Given the description of an element on the screen output the (x, y) to click on. 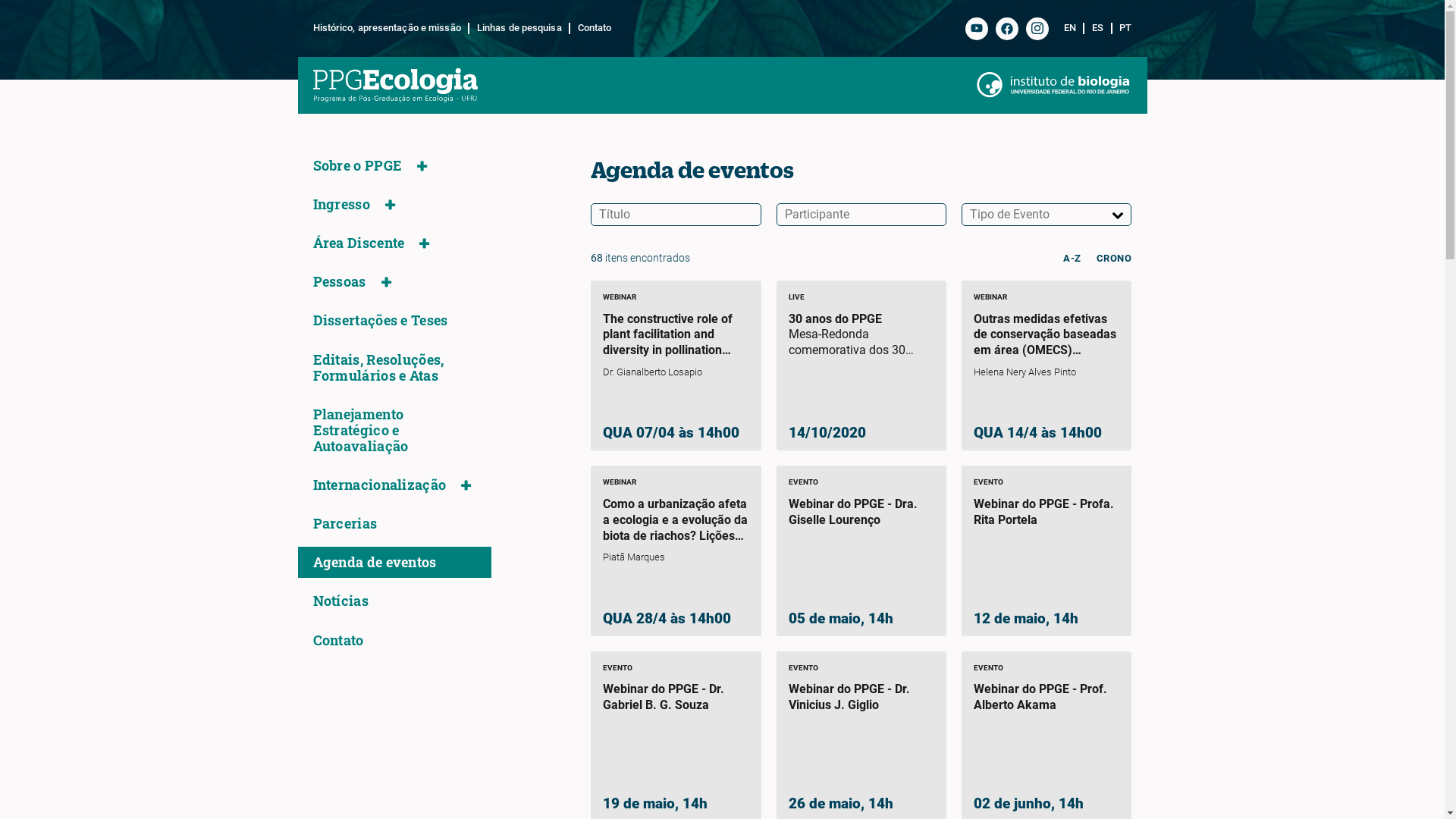
Linhas de pesquisa Element type: text (519, 28)
Parcerias Element type: text (344, 523)
Pessoas Element type: text (338, 281)
Ingresso Element type: text (340, 204)
Agenda de eventos Element type: text (374, 562)
CRONO Element type: text (1114, 257)
Contato Element type: text (590, 28)
EVENTO
Webinar do PPGE - Profa. Rita Portela
12 de maio, 14h Element type: text (1046, 550)
Contato Element type: text (337, 640)
Sobre o PPGE Element type: text (356, 165)
A-Z Element type: text (1072, 257)
ES Element type: text (1097, 28)
EN Element type: text (1074, 28)
PT Element type: text (1122, 28)
